Given the description of an element on the screen output the (x, y) to click on. 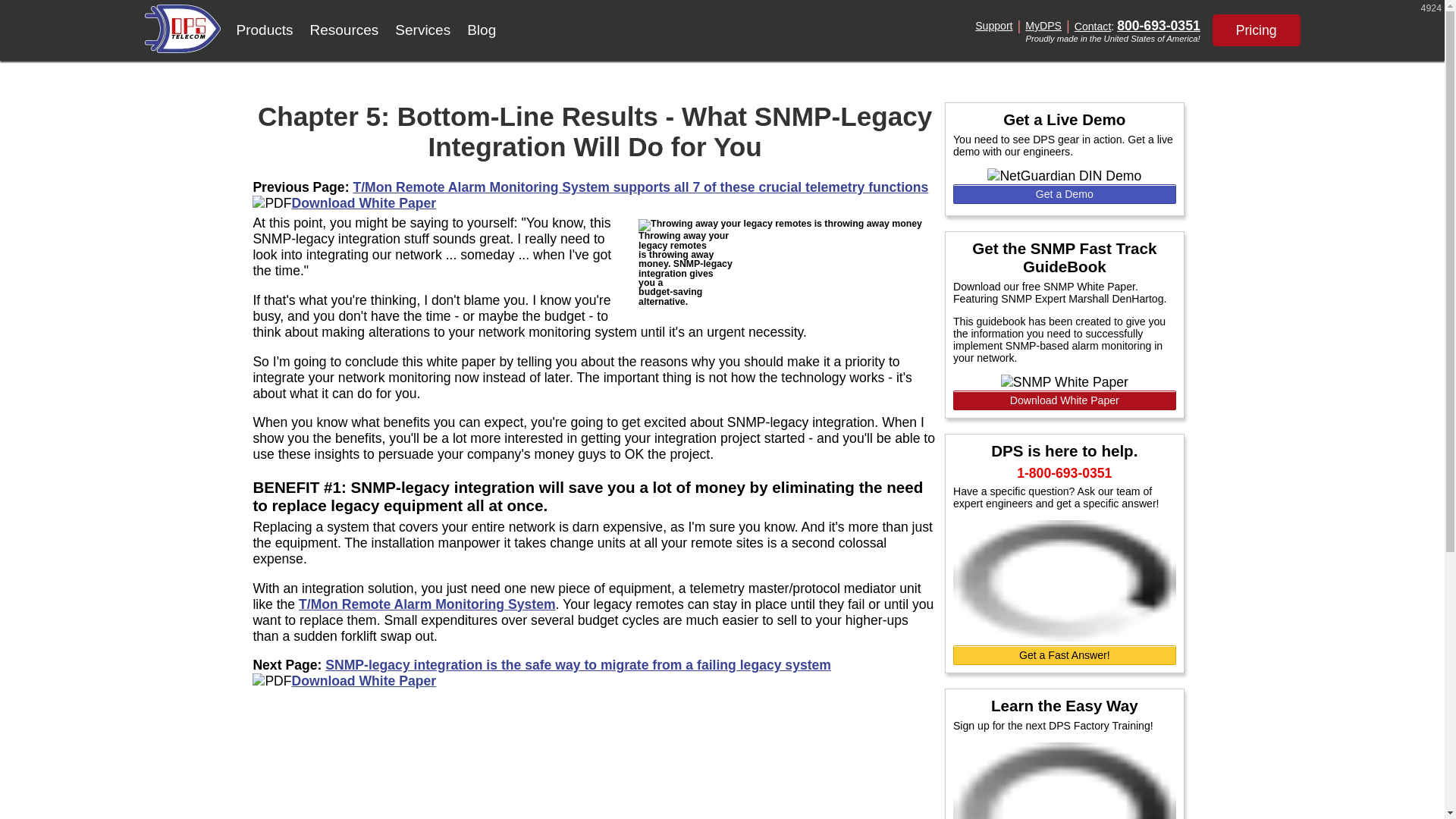
Resources (344, 30)
Pricing (1256, 29)
Download White Paper (1064, 400)
Download White Paper (364, 202)
MyDPS (1043, 25)
800-693-0351 (1157, 25)
Support (993, 25)
Contact (1093, 25)
Blog (480, 30)
Download White Paper (364, 680)
Get a Fast Answer! (1064, 655)
Services (422, 30)
Get a Demo (1064, 193)
Products (264, 30)
